Given the description of an element on the screen output the (x, y) to click on. 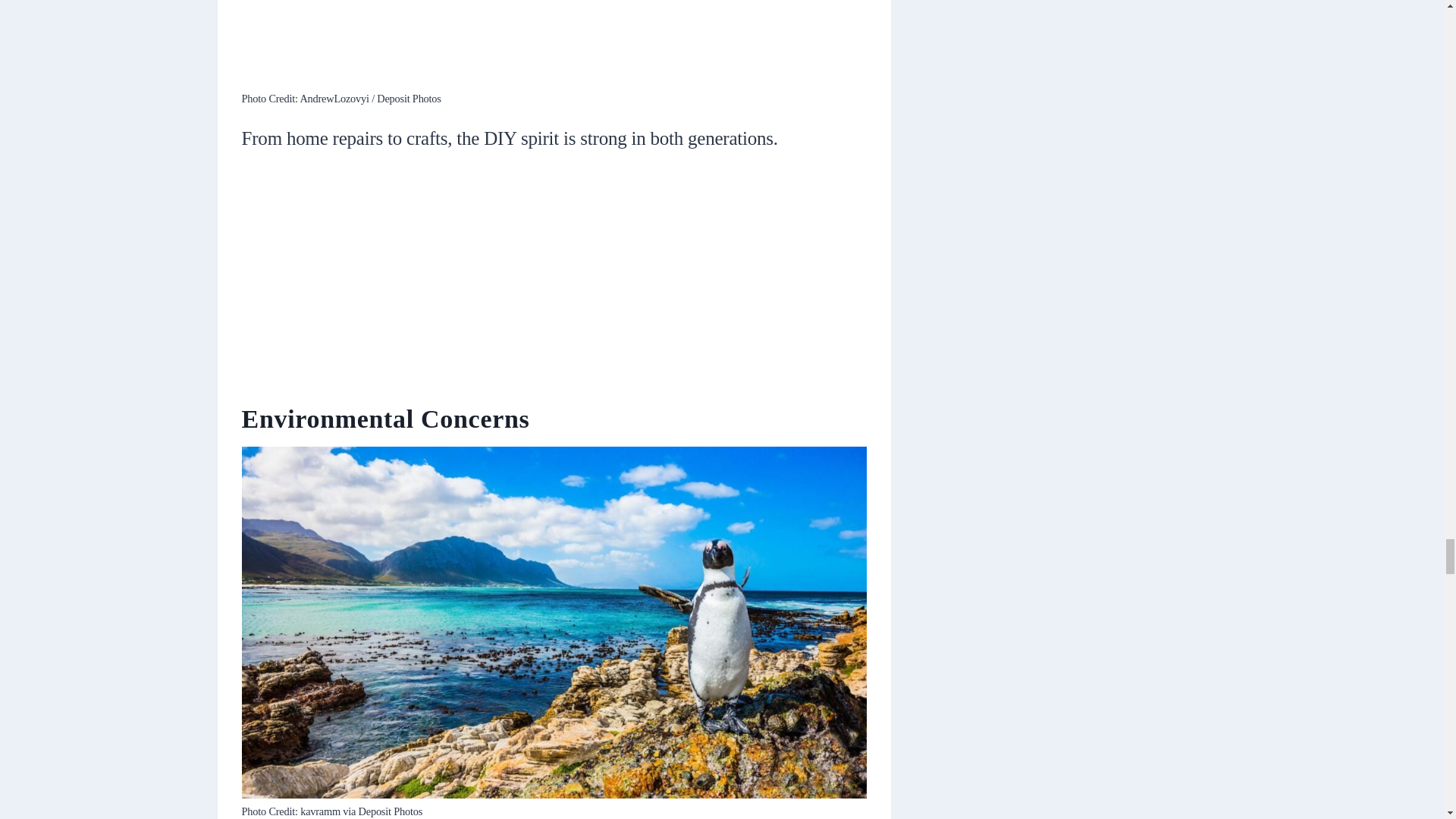
18 Reasons Why Millennials Just Might Be the New Boomers 16 (554, 42)
